Given the description of an element on the screen output the (x, y) to click on. 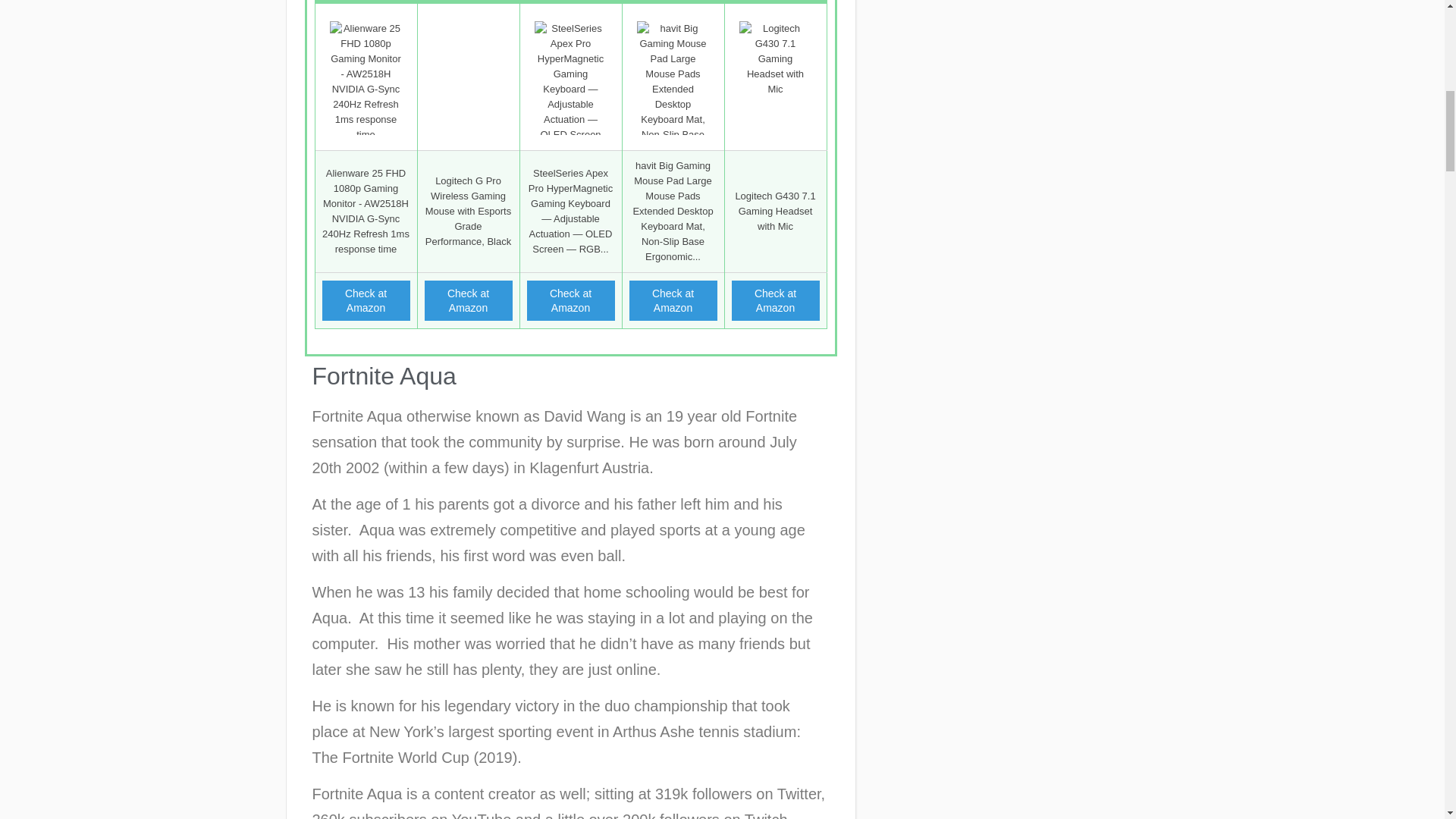
Check at Amazon (774, 300)
Check at Amazon (569, 300)
Check at Amazon (468, 300)
Check at Amazon (672, 300)
Check at Amazon (569, 300)
Check at Amazon (468, 300)
Check at Amazon (672, 300)
Check at Amazon (365, 300)
Check at Amazon (365, 300)
Check at Amazon (774, 300)
